Given the description of an element on the screen output the (x, y) to click on. 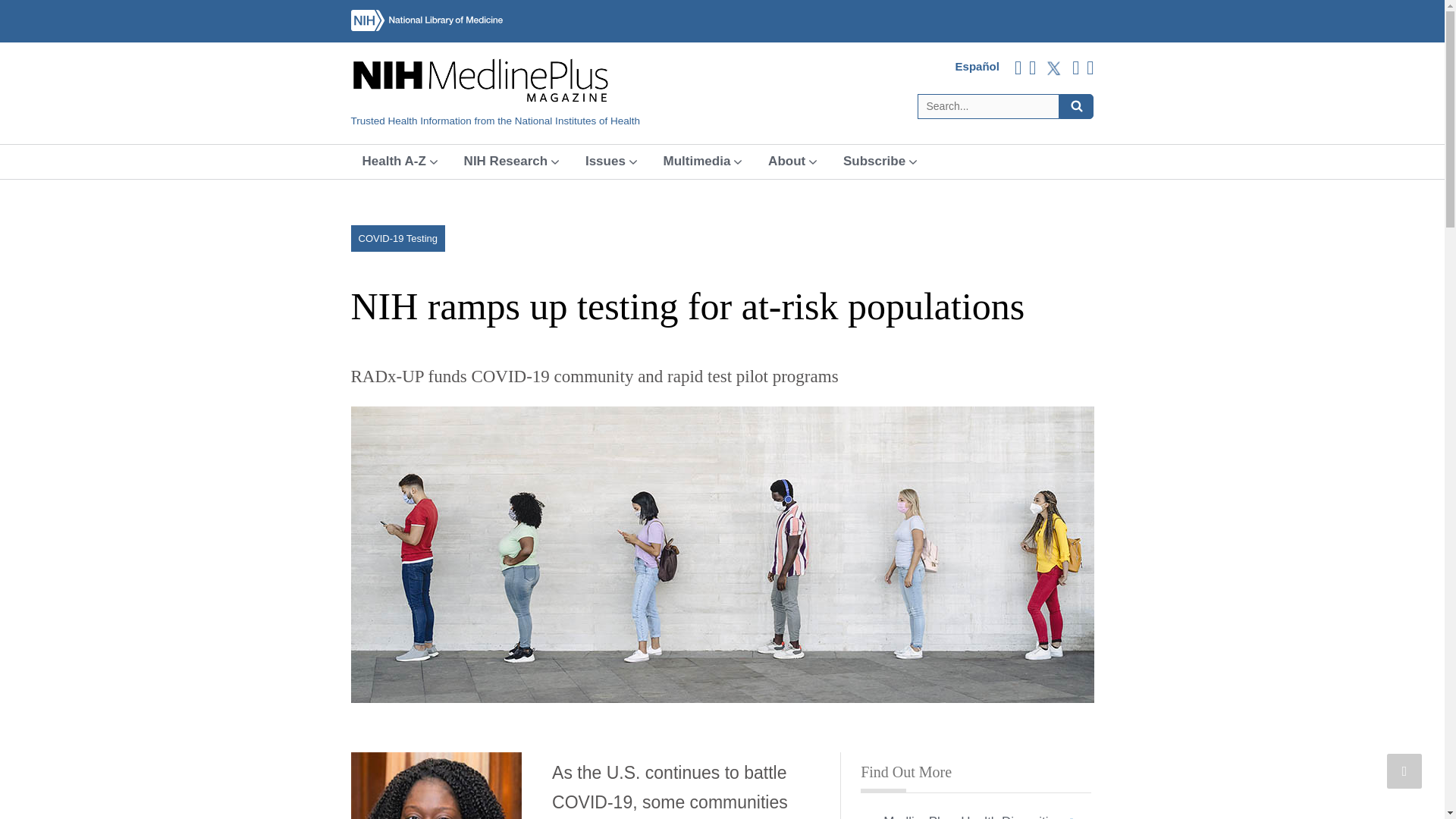
NIH Research (511, 161)
Subscribe (879, 161)
Multimedia (703, 161)
About (792, 161)
Issues (610, 161)
Search (1076, 106)
Health A-Z (399, 161)
Go to top (1404, 770)
